Given the description of an element on the screen output the (x, y) to click on. 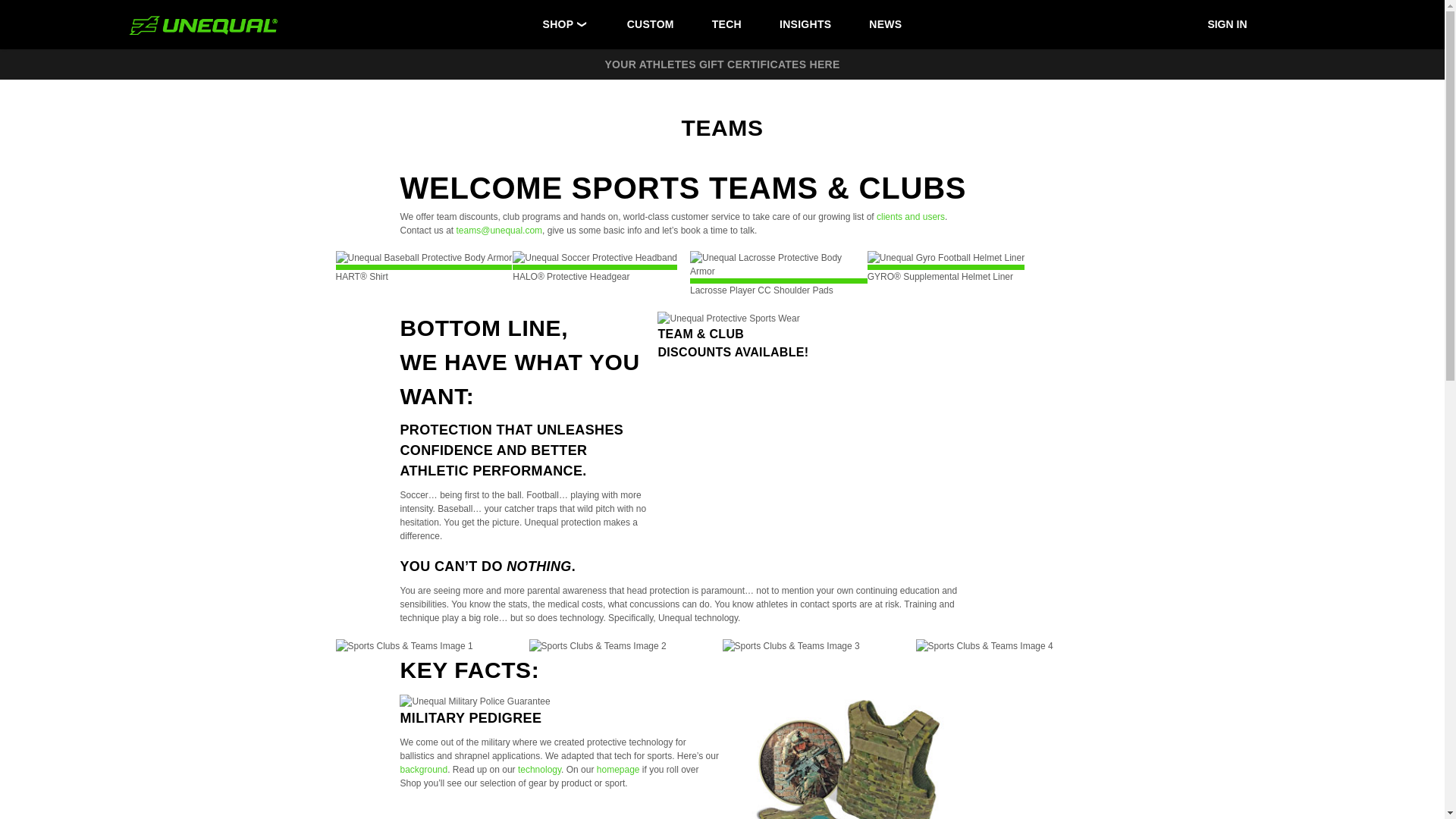
Unequal Soccer Protective Headband (594, 260)
Unequal Military Police Guarantee (474, 701)
Unequal Baseball Protective Body Armor (423, 260)
Unequal Helmet Liner Protective Insert (946, 260)
SHOP (558, 24)
Unequal Military Police Armor (850, 756)
Unequal Protective Sports Wear (728, 318)
Unequal Lacrosse Protective Body Armor (778, 266)
